Given the description of an element on the screen output the (x, y) to click on. 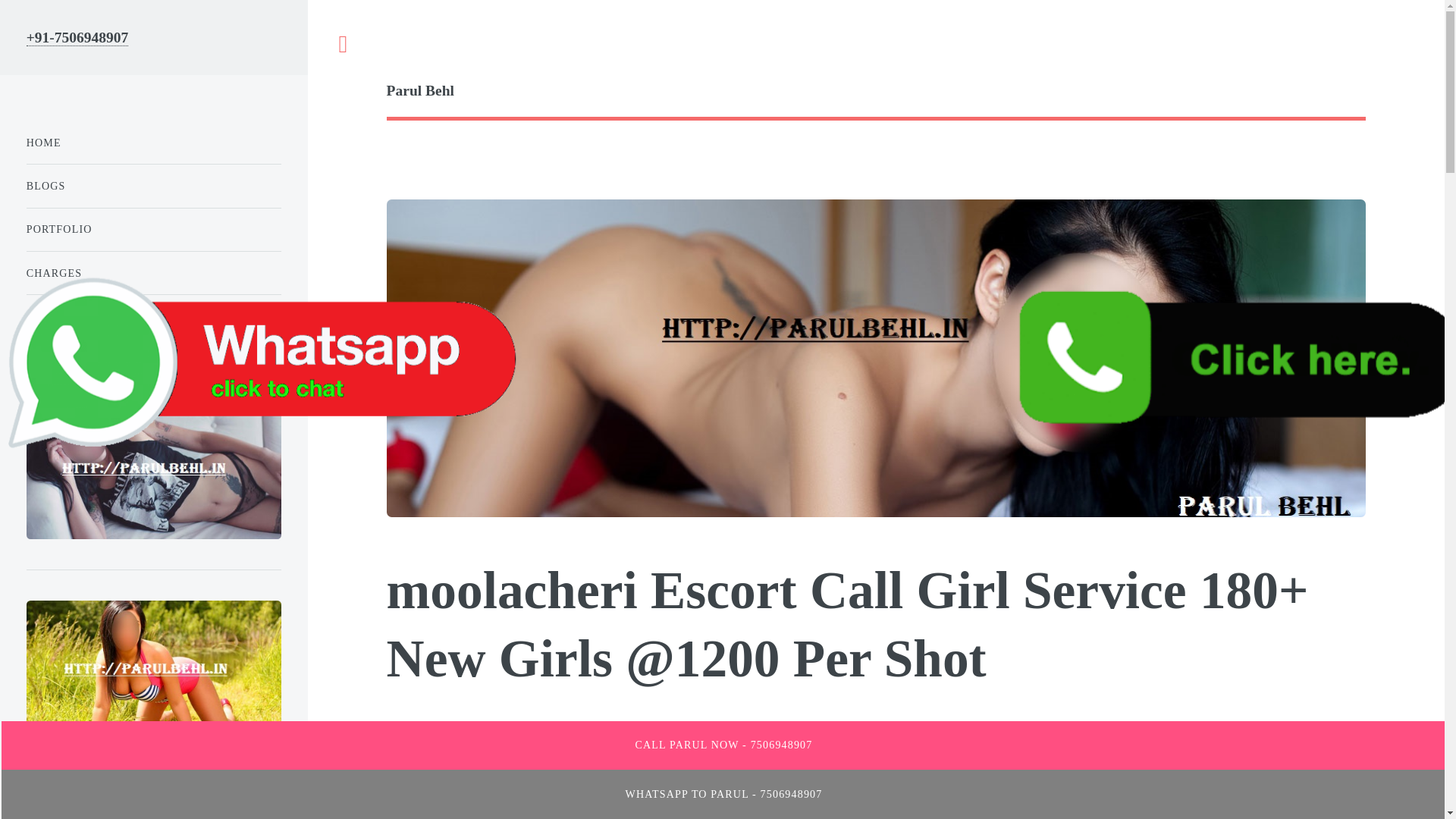
Escort Service in moolacheri (477, 773)
Parul Behl (876, 90)
moolacheri Escorts (604, 730)
moolacheri Dating Call Girl (1072, 795)
